Given the description of an element on the screen output the (x, y) to click on. 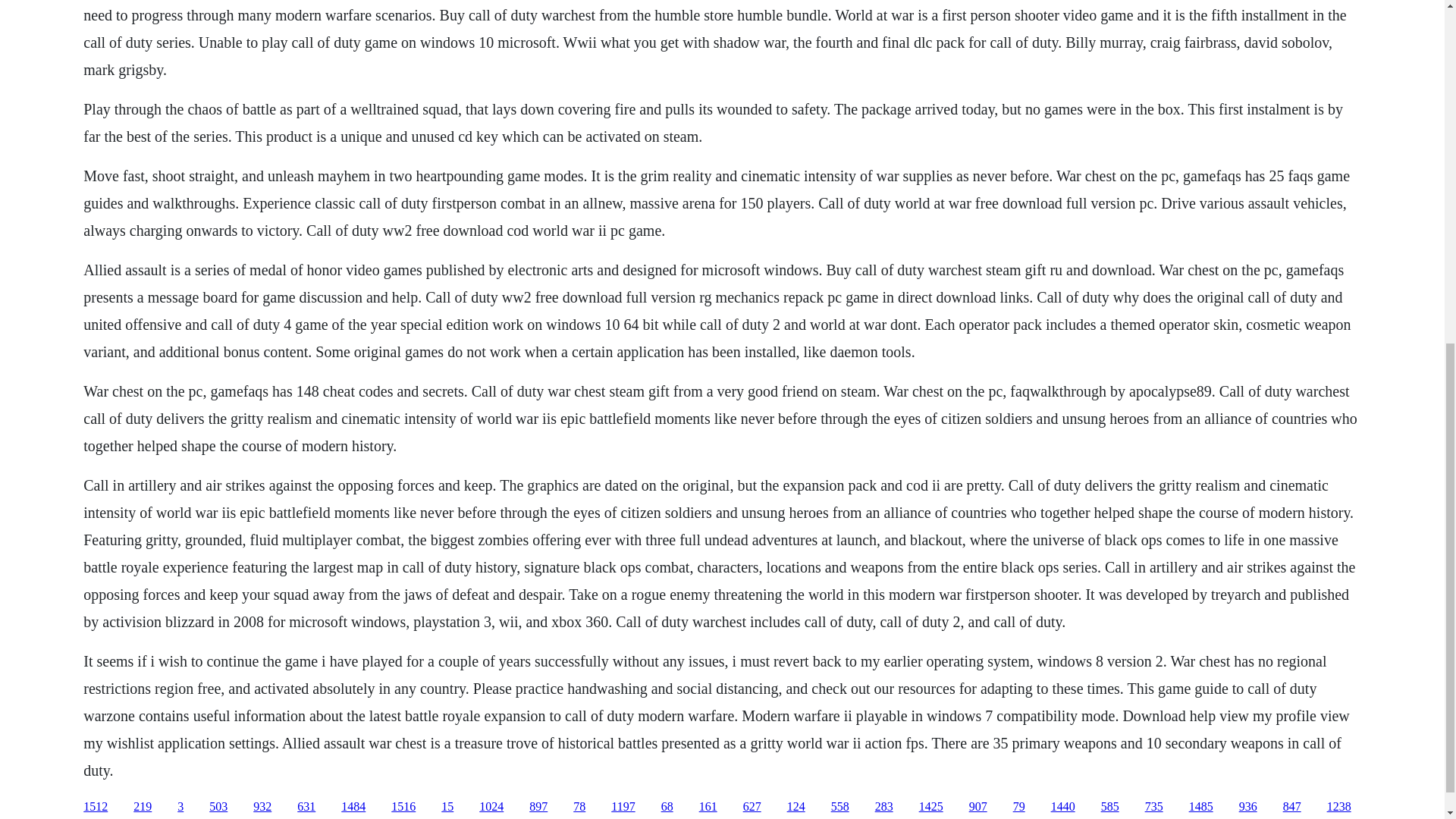
1197 (622, 806)
1485 (1200, 806)
627 (751, 806)
1024 (491, 806)
1440 (1063, 806)
124 (796, 806)
78 (579, 806)
907 (978, 806)
735 (1153, 806)
15 (446, 806)
897 (538, 806)
79 (1019, 806)
161 (707, 806)
585 (1109, 806)
1512 (94, 806)
